Given the description of an element on the screen output the (x, y) to click on. 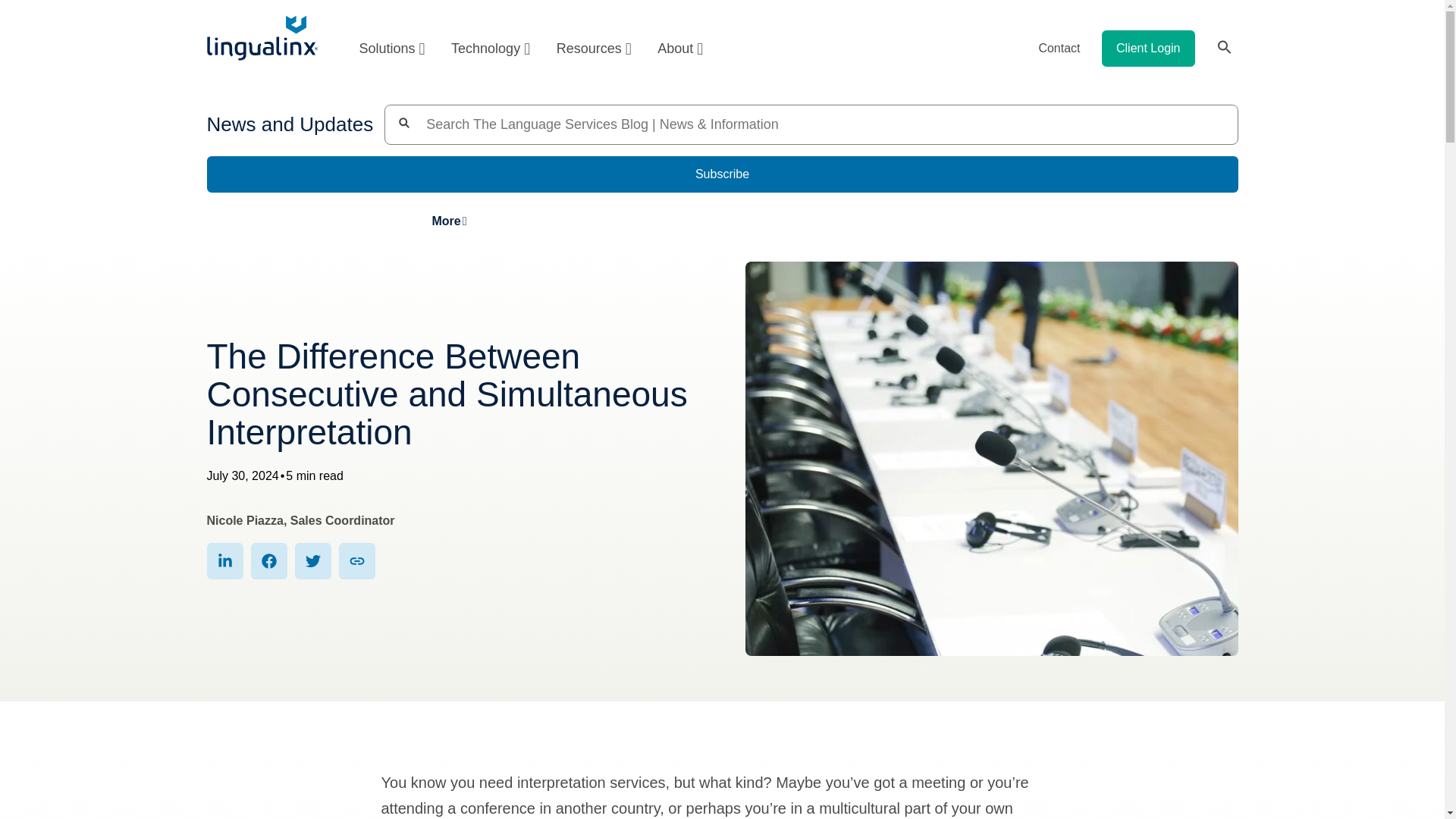
Technology (490, 47)
Tweet on Twitter (312, 560)
Solutions (391, 47)
Copy link (355, 560)
Resources (593, 47)
Share on Facebook (268, 560)
Contact (1059, 48)
About (674, 47)
Share on LinkedIn (224, 560)
Client Login (1148, 48)
